Given the description of an element on the screen output the (x, y) to click on. 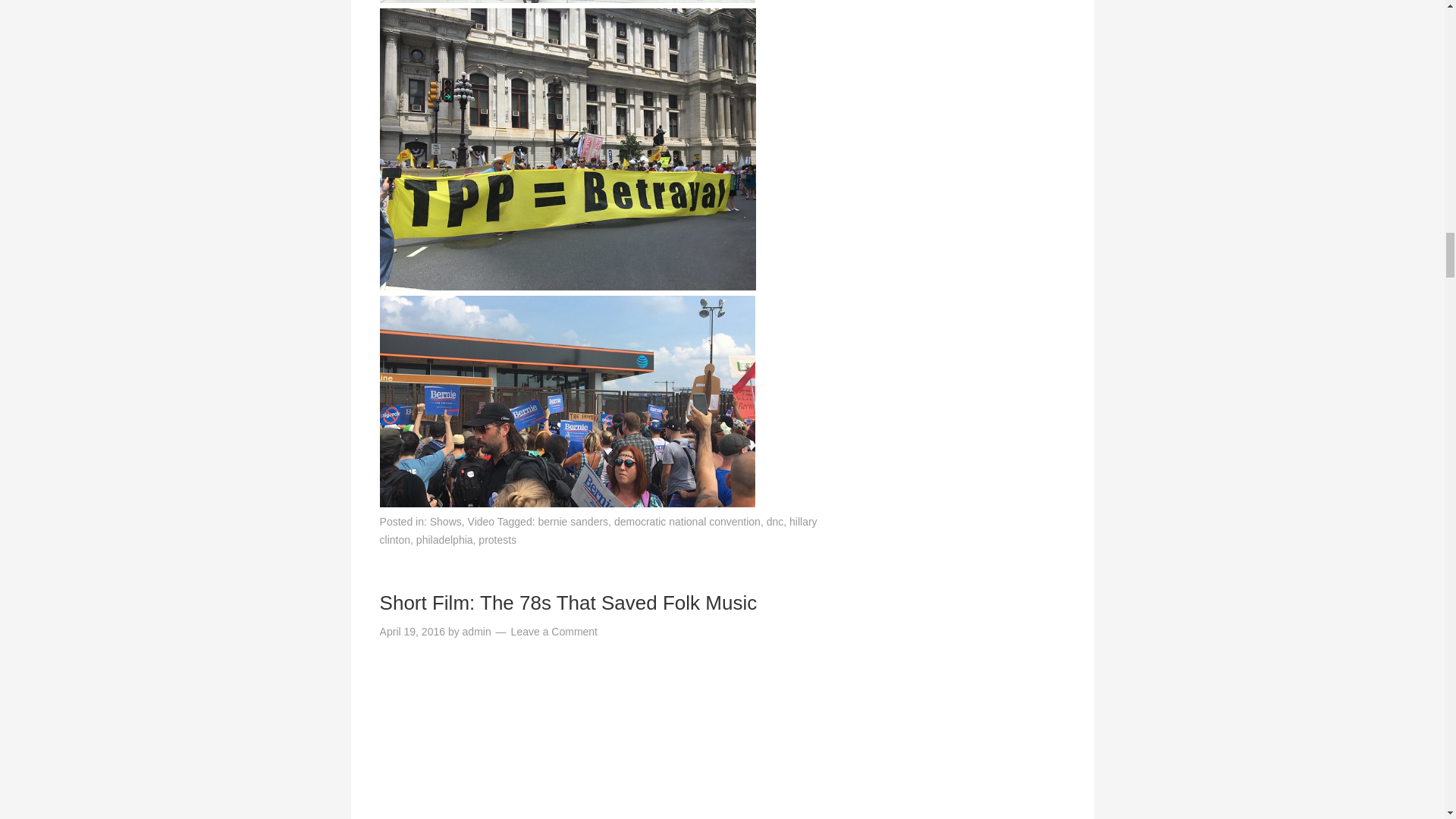
Tuesday, April 19, 2016, 6:03 pm (412, 631)
hillary clinton (598, 530)
admin (477, 631)
Video (481, 521)
protests (497, 539)
Shows (445, 521)
dnc (775, 521)
democratic national convention (687, 521)
philadelphia (444, 539)
Short Film: The 78s That Saved Folk Music (568, 602)
